Given the description of an element on the screen output the (x, y) to click on. 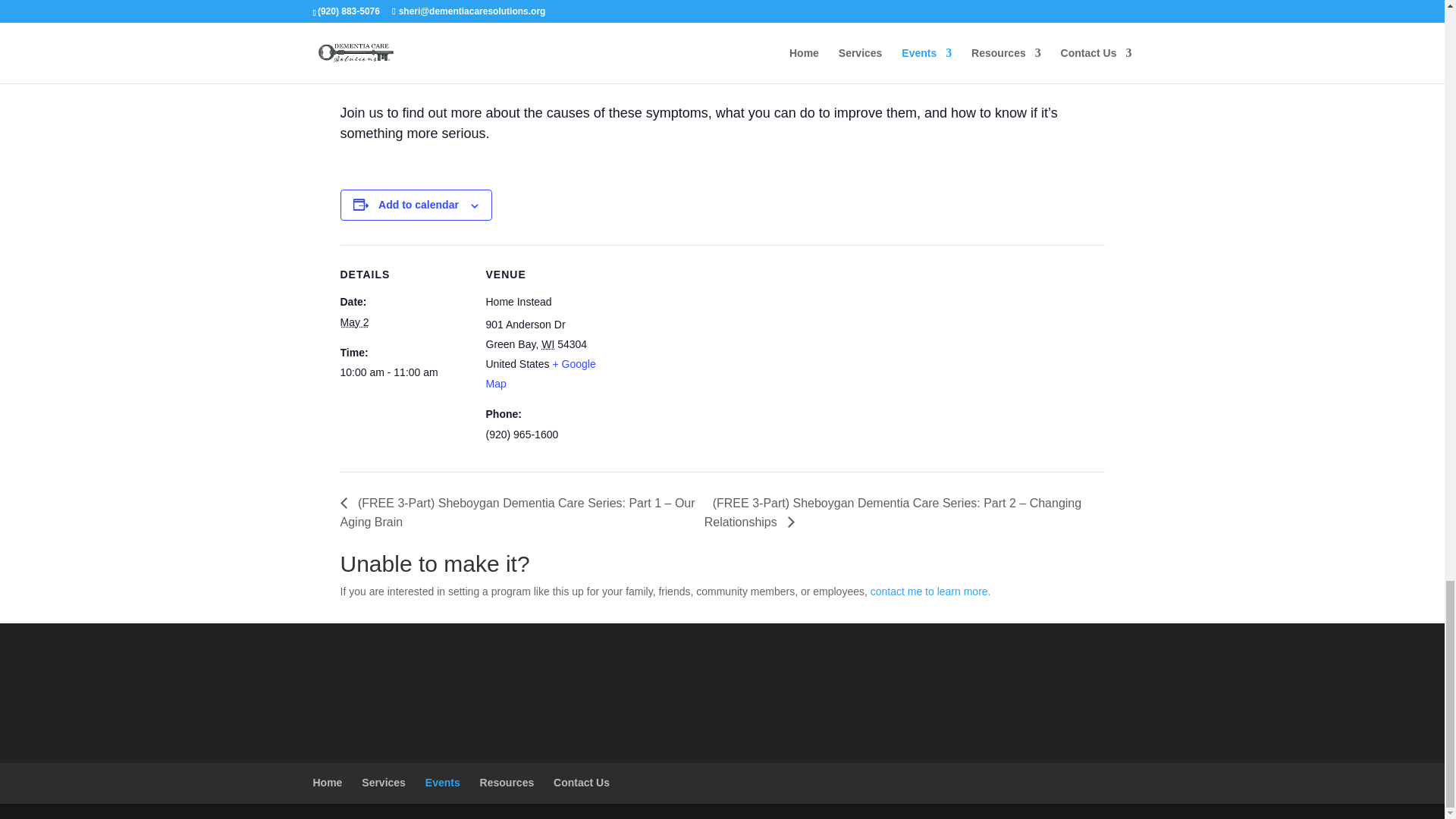
Home (327, 782)
Contact Us (581, 782)
Google maps iframe displaying the address to Home Instead (710, 349)
Click to view a Google Map (539, 373)
contact me to learn more.  (932, 591)
Resources (507, 782)
2024-05-02 (353, 322)
Events (442, 782)
Wisconsin (547, 344)
Add to calendar (418, 204)
Services (383, 782)
2024-05-02 (403, 372)
